Given the description of an element on the screen output the (x, y) to click on. 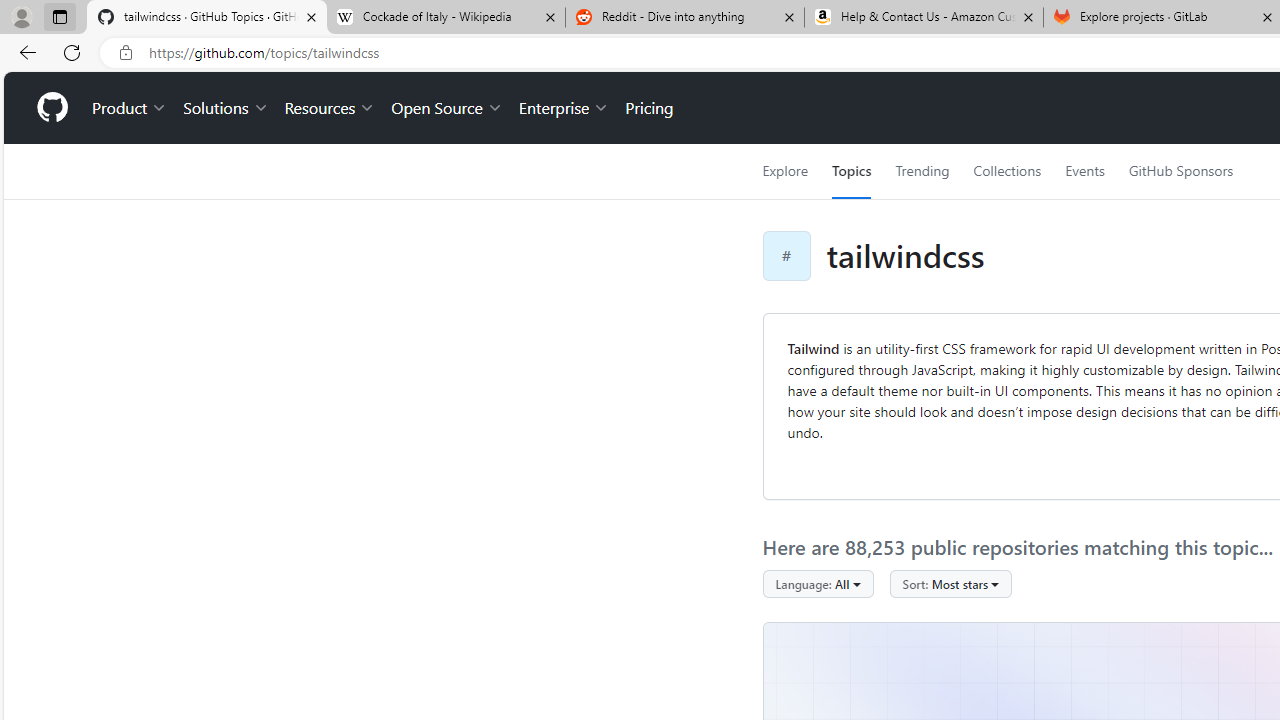
Solutions (225, 107)
Topics (851, 171)
GitHub Sponsors (1180, 171)
Product (130, 107)
Open Source (446, 107)
Trending (921, 171)
Sort: Most stars (950, 584)
